Given the description of an element on the screen output the (x, y) to click on. 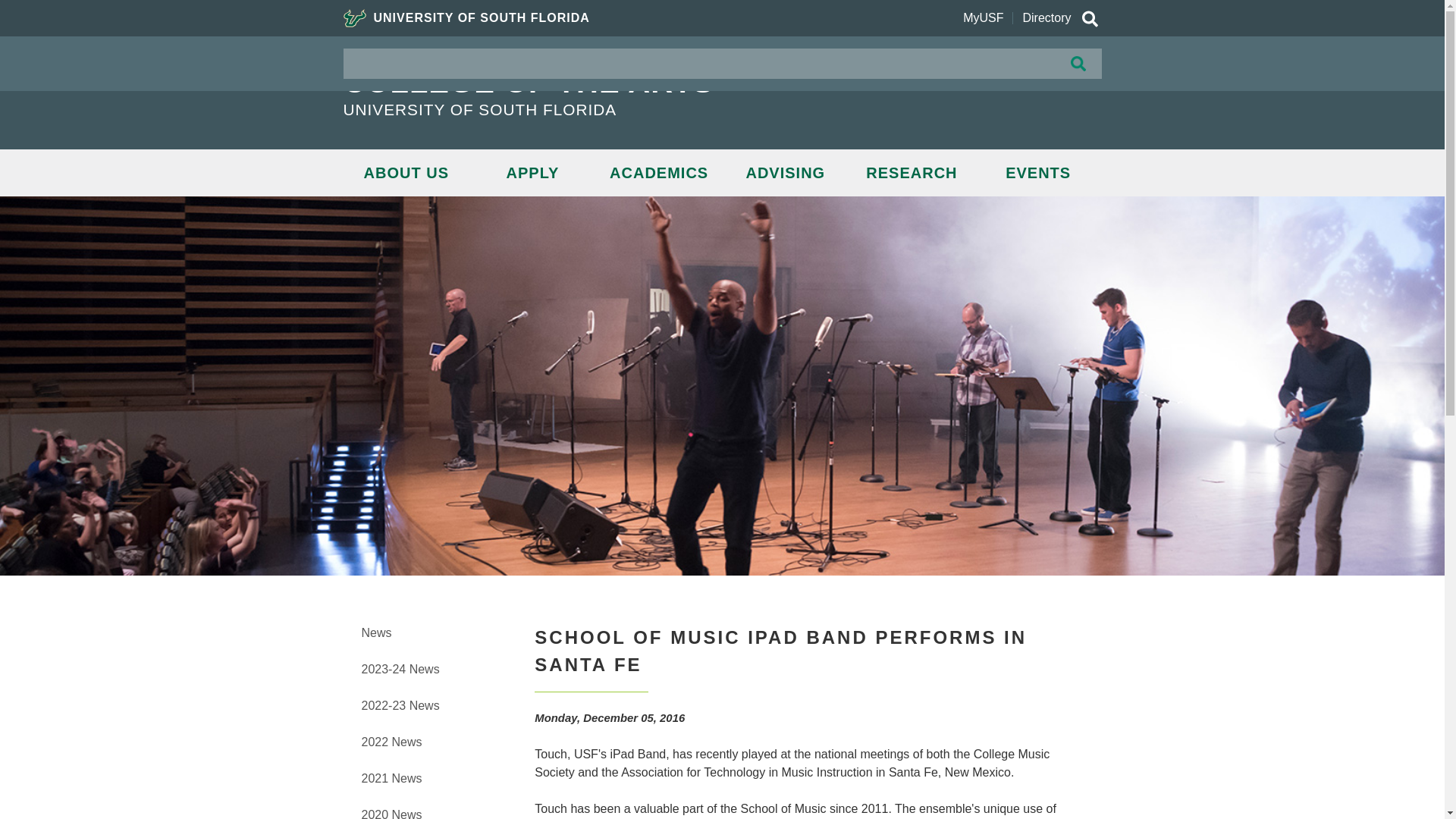
UNIVERSITY OF SOUTH FLORIDA (465, 18)
2022 News (391, 741)
2022-23 News (400, 705)
2020 News (391, 813)
News (376, 632)
Directory (1046, 18)
COLLEGE OF THE ARTS (607, 81)
APPLY (531, 172)
GIVE NOW (1039, 69)
ADVISING (785, 172)
EVENTS (1038, 172)
MyUSF (982, 18)
UNIVERSITY OF SOUTH FLORIDA (607, 109)
ABOUT US (405, 172)
2021 News Stories (391, 778)
